Given the description of an element on the screen output the (x, y) to click on. 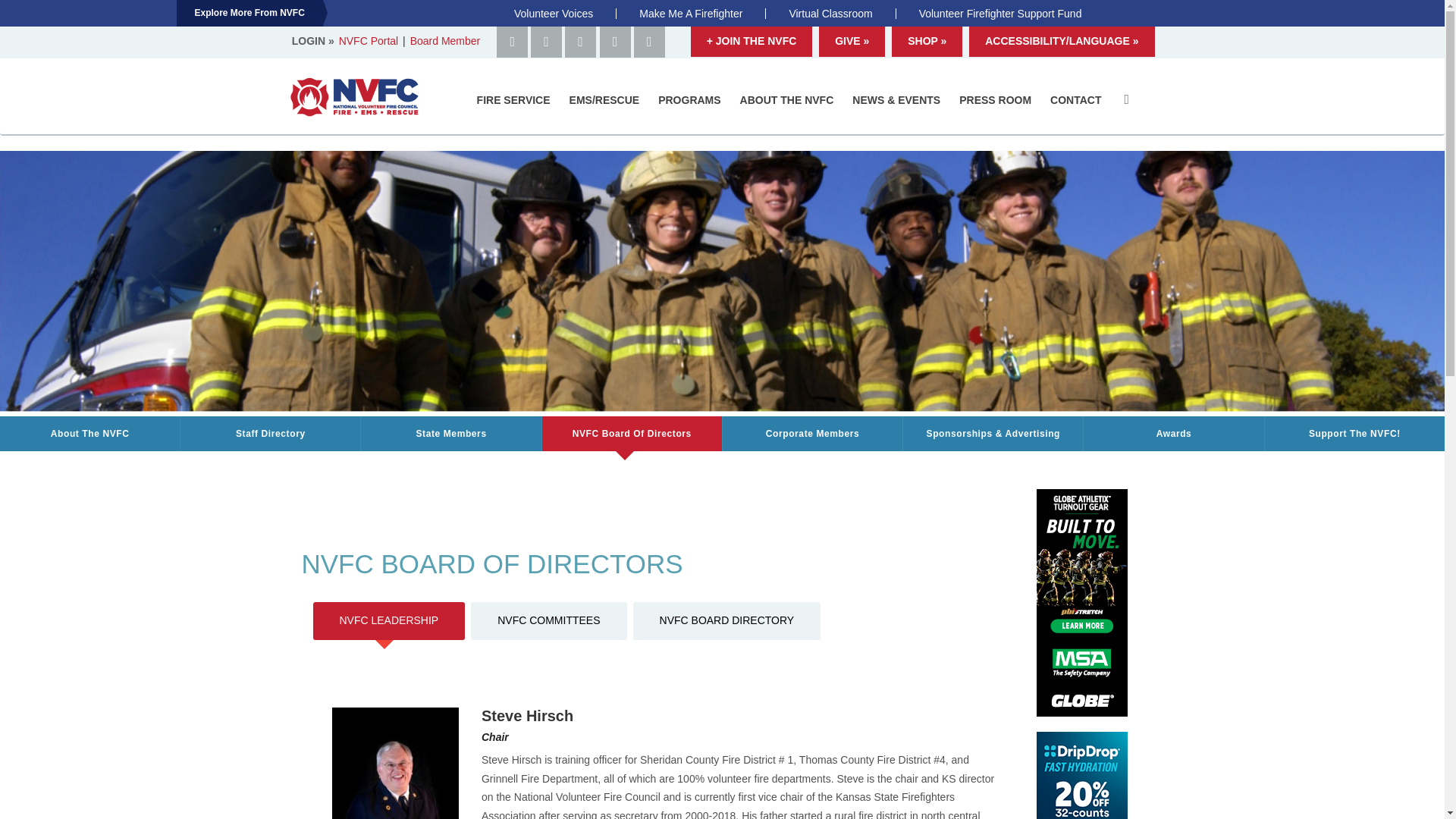
Volunteer Firefighter Support Fund (1000, 13)
State Members (450, 433)
PROGRAMS (691, 99)
PRESS ROOM (997, 99)
Awards (1173, 433)
Board Member (445, 40)
NVFC Portal (370, 40)
Staff Directory (269, 433)
NVFC LEADERSHIP (388, 620)
Make Me A Firefighter (690, 13)
